Given the description of an element on the screen output the (x, y) to click on. 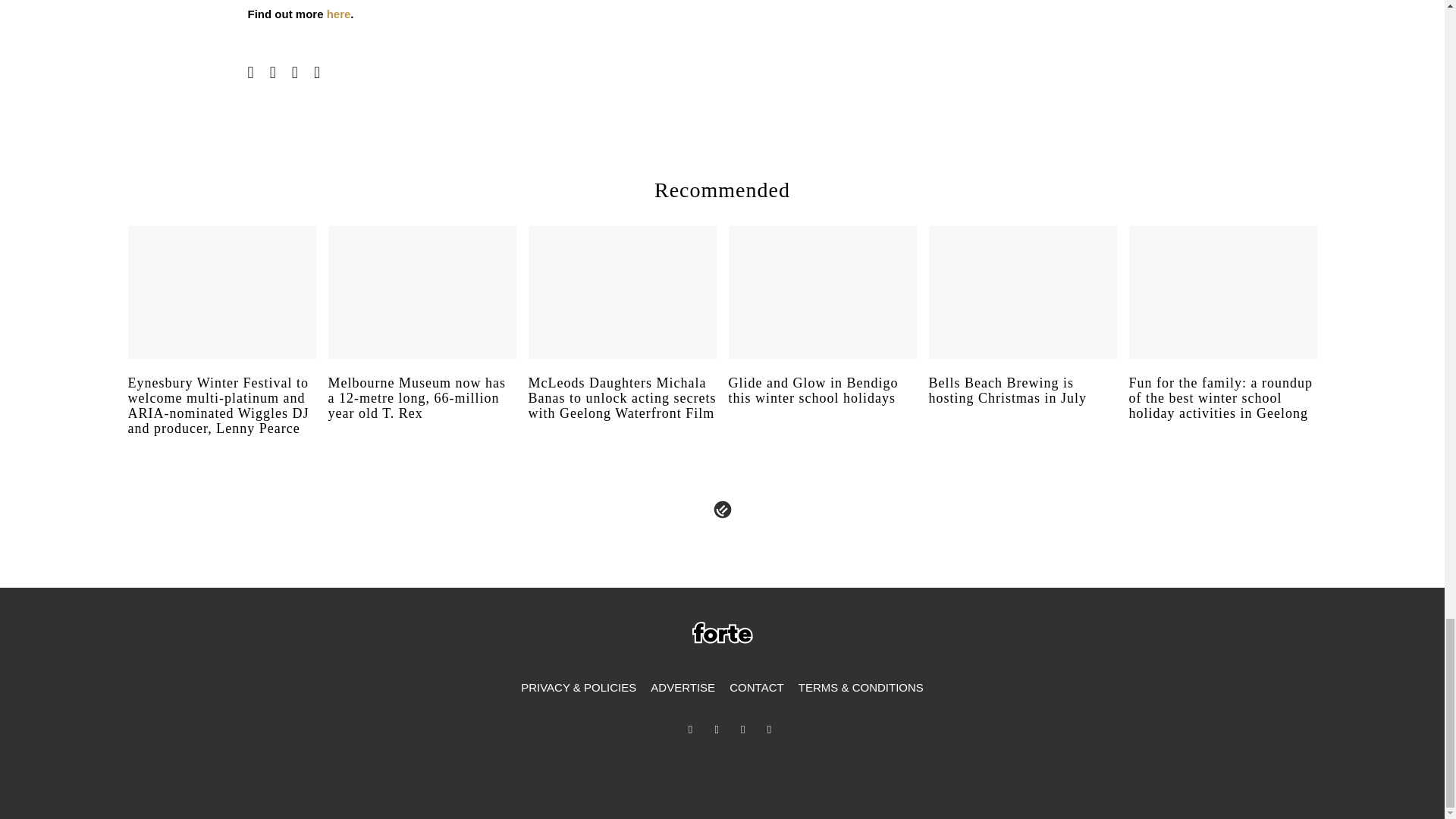
Bells Beach Brewing is hosting Christmas in July (1022, 404)
here (338, 13)
Glide and Glow in Bendigo this winter school holidays (821, 404)
